Given the description of an element on the screen output the (x, y) to click on. 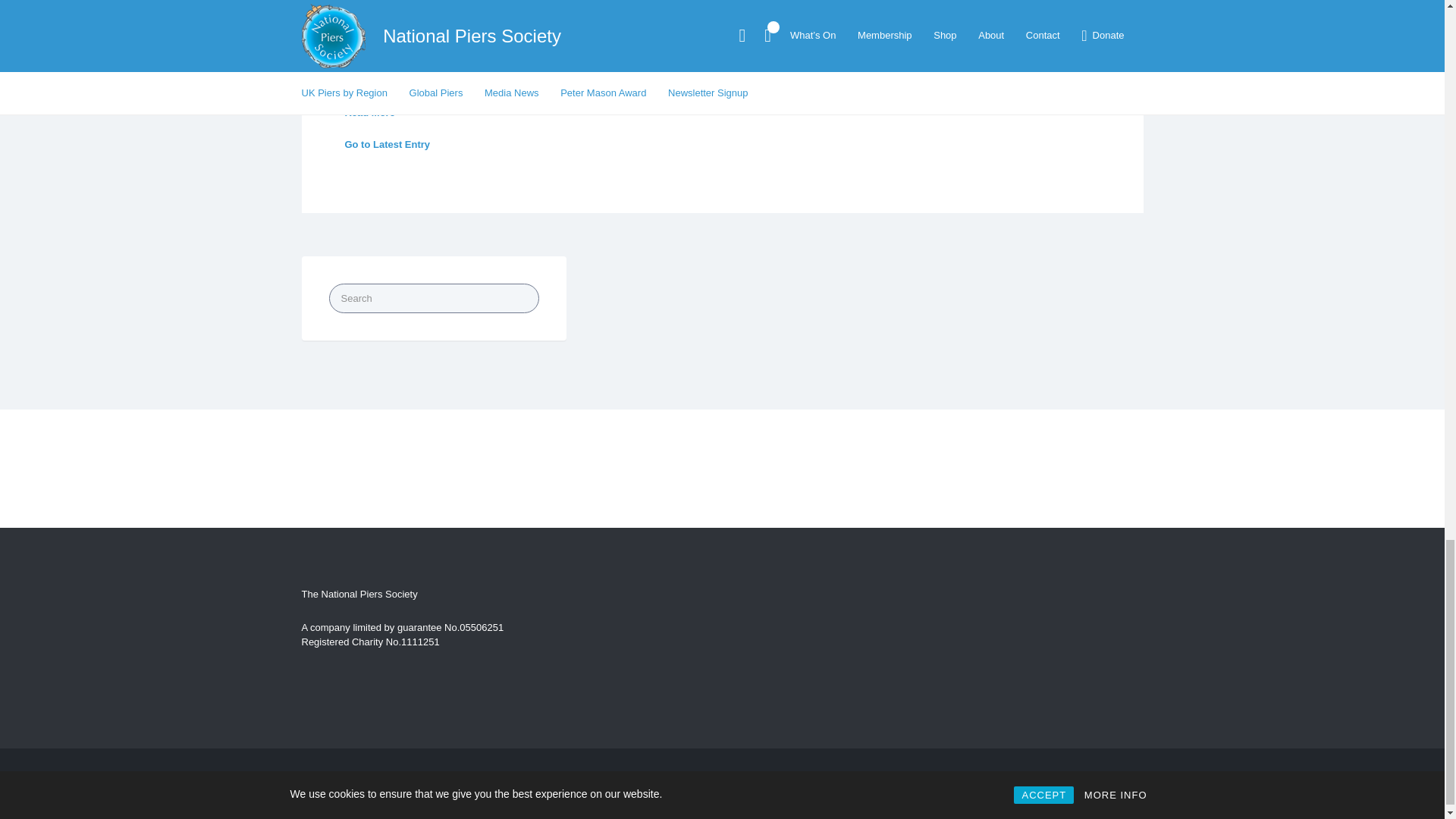
Search for: (434, 297)
